Given the description of an element on the screen output the (x, y) to click on. 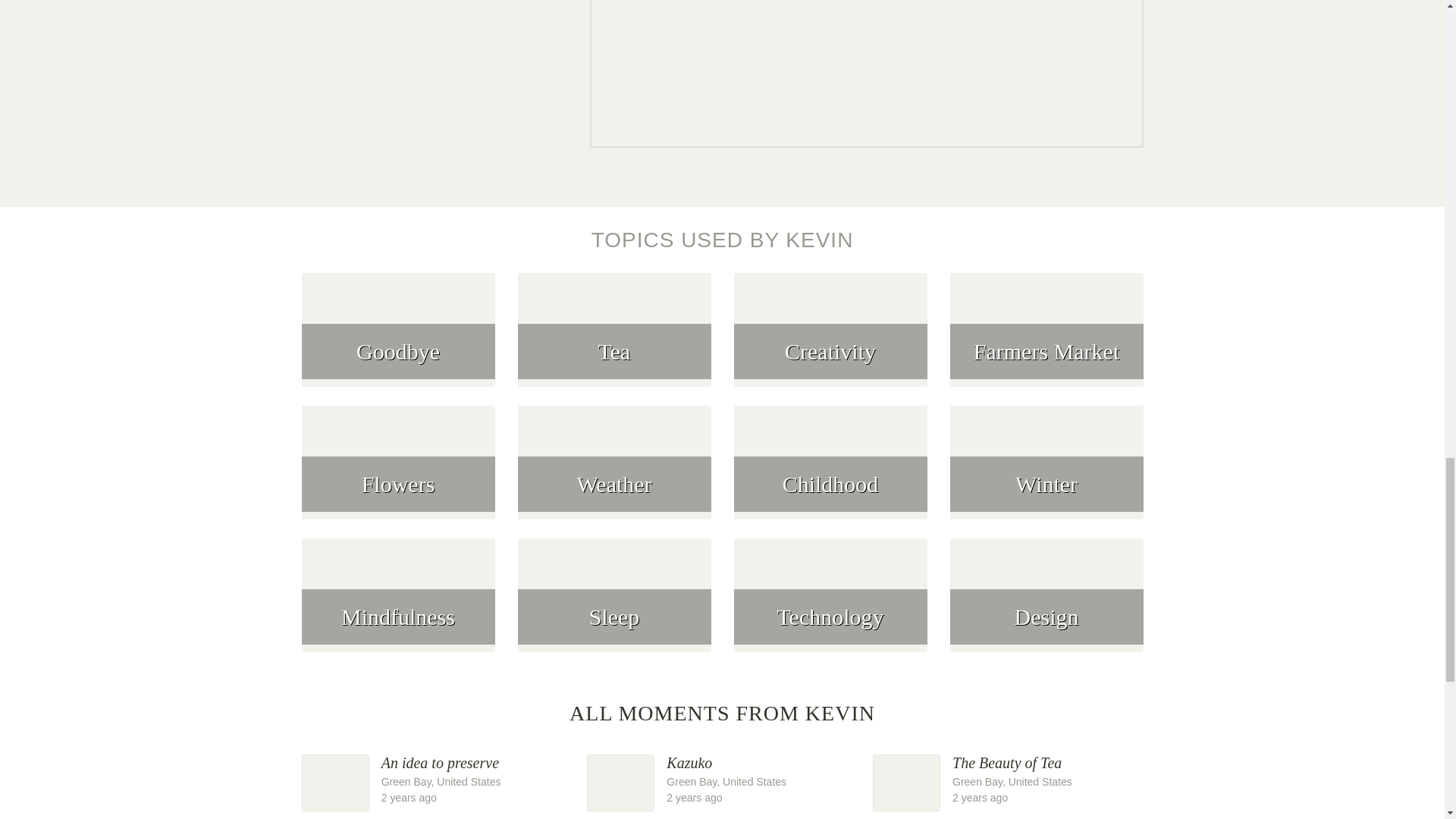
Farmers Market (1046, 338)
Weather (614, 471)
Design (436, 779)
Mindfulness (721, 779)
Goodbye (1046, 604)
Tea (397, 604)
Childhood (397, 338)
